Given the description of an element on the screen output the (x, y) to click on. 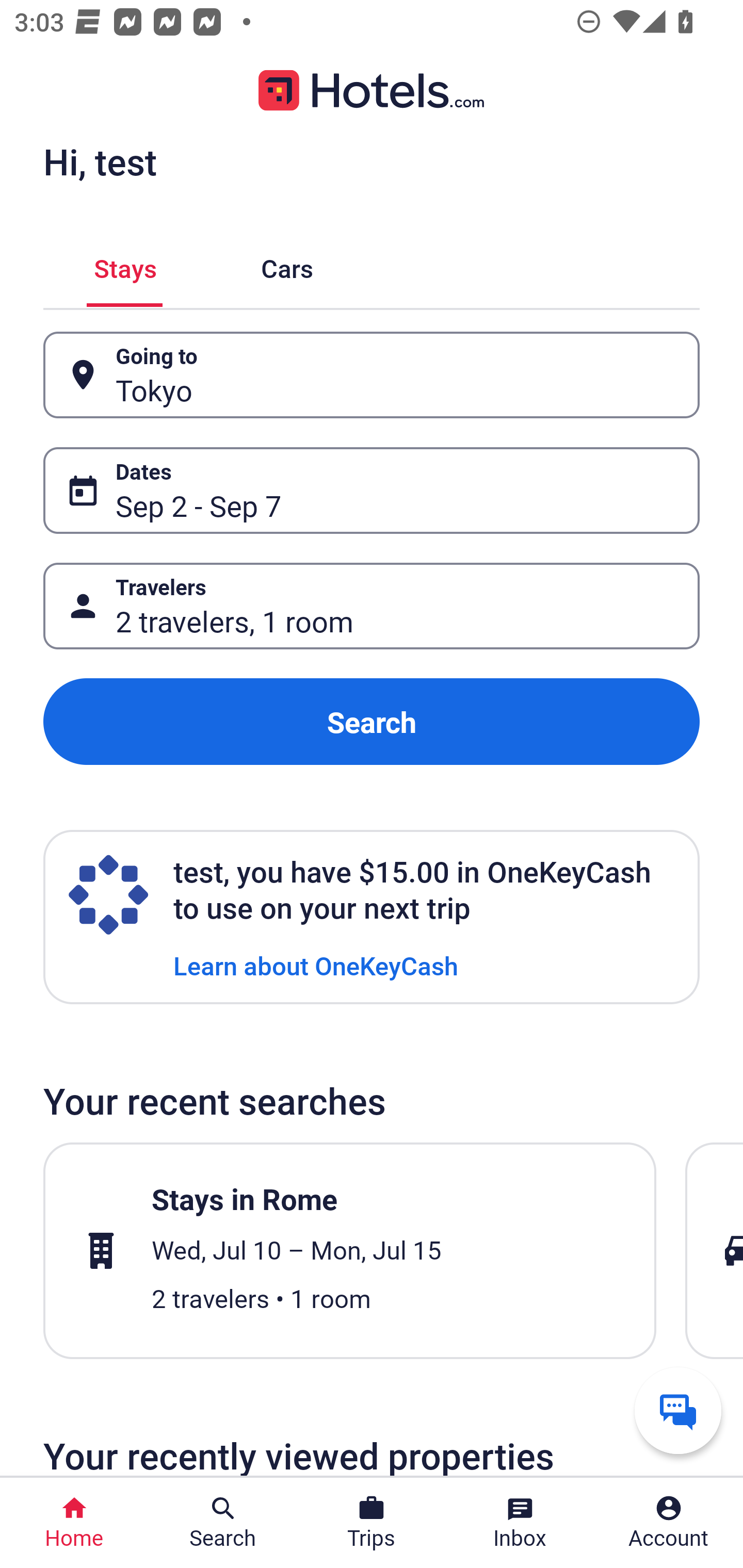
Hi, test (99, 161)
Cars (286, 265)
Going to Button Tokyo (371, 375)
Dates Button Sep 2 - Sep 7 (371, 489)
Travelers Button 2 travelers, 1 room (371, 605)
Search (371, 721)
Learn about OneKeyCash Learn about OneKeyCash Link (315, 964)
Get help from a virtual agent (677, 1410)
Search Search Button (222, 1522)
Trips Trips Button (371, 1522)
Inbox Inbox Button (519, 1522)
Account Profile. Button (668, 1522)
